Given the description of an element on the screen output the (x, y) to click on. 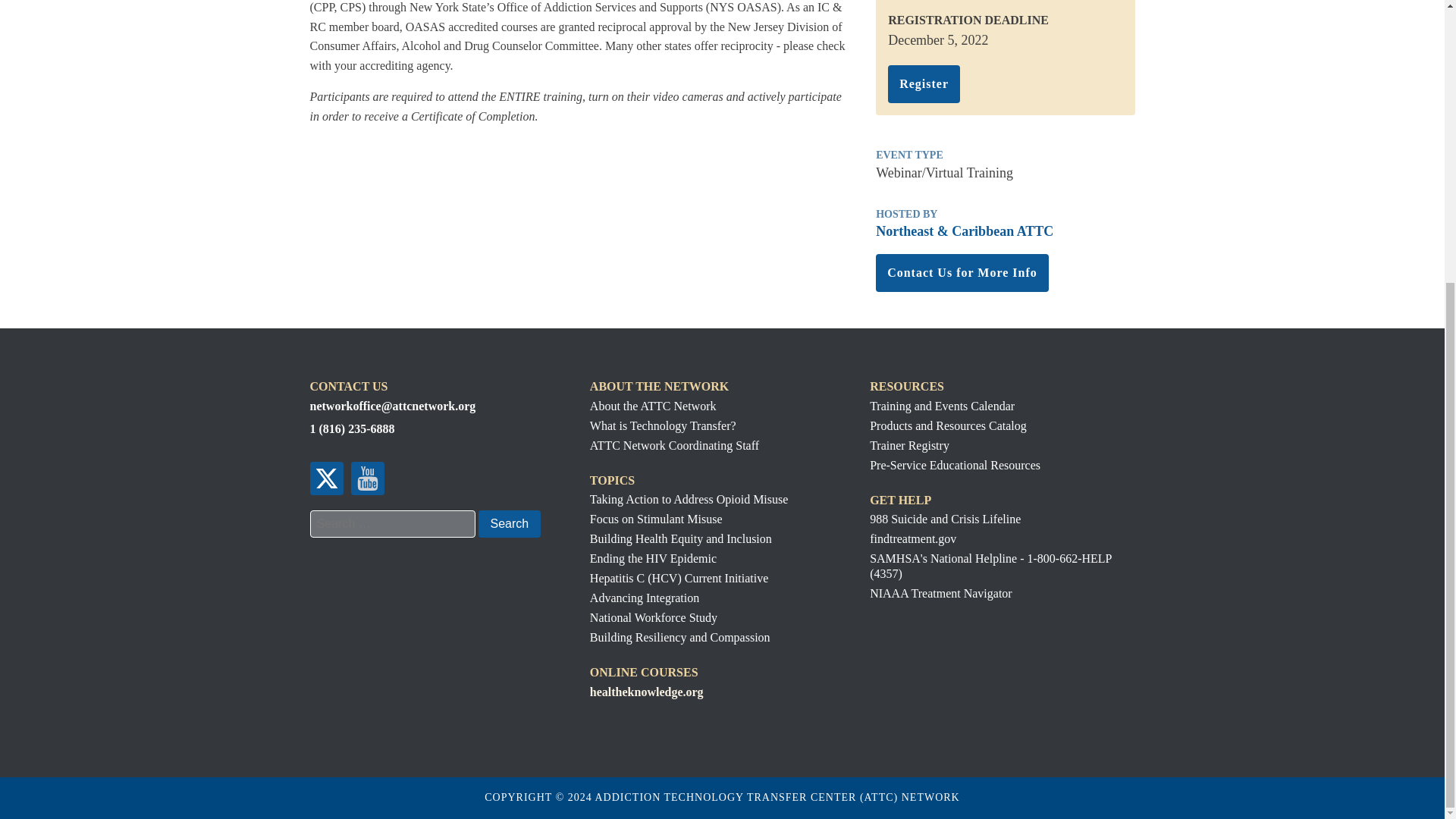
What is Technology Transfer? (673, 425)
Building Health Equity and Inclusion (689, 538)
Search (508, 523)
Focus on Stimulant Misuse (689, 519)
Search (508, 523)
Register (923, 84)
Ending the HIV Epidemic (689, 558)
Contact Us for More Info (962, 272)
Taking Action to Address Opioid Misuse (689, 499)
ATTC Network Coordinating Staff (673, 445)
